Given the description of an element on the screen output the (x, y) to click on. 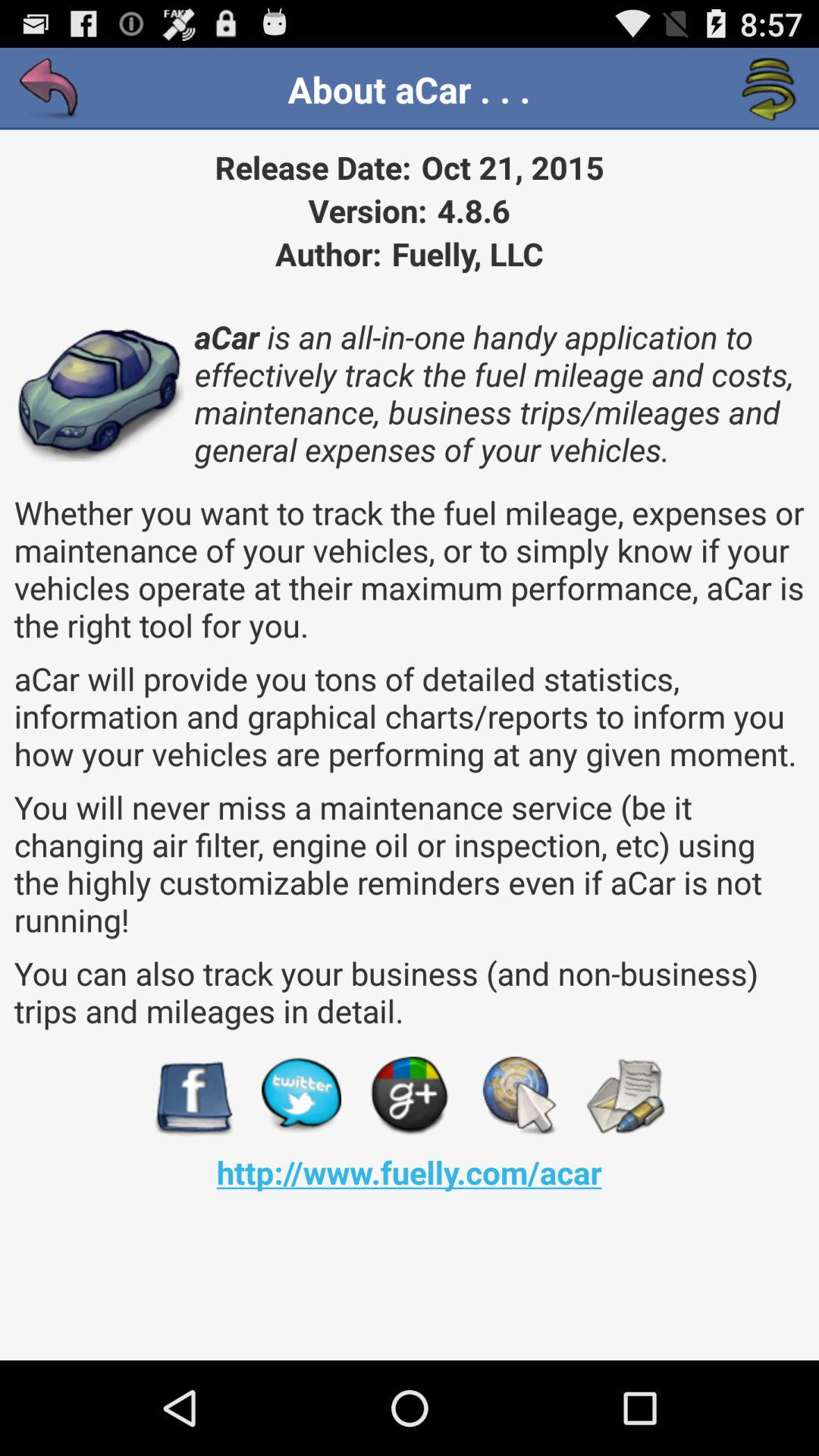
open up twitter page (301, 1096)
